Given the description of an element on the screen output the (x, y) to click on. 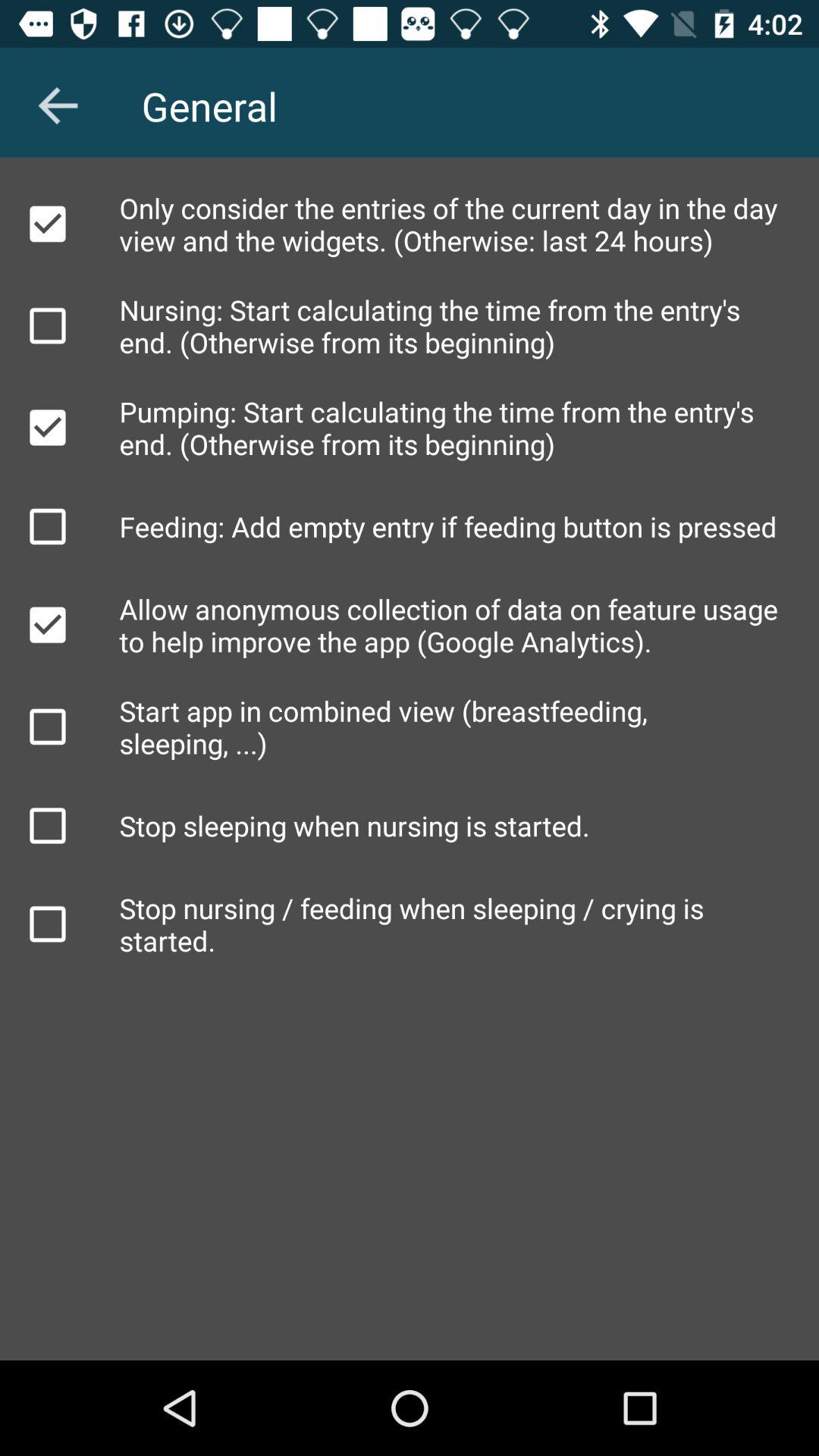
click the item next to the general item (57, 105)
